Given the description of an element on the screen output the (x, y) to click on. 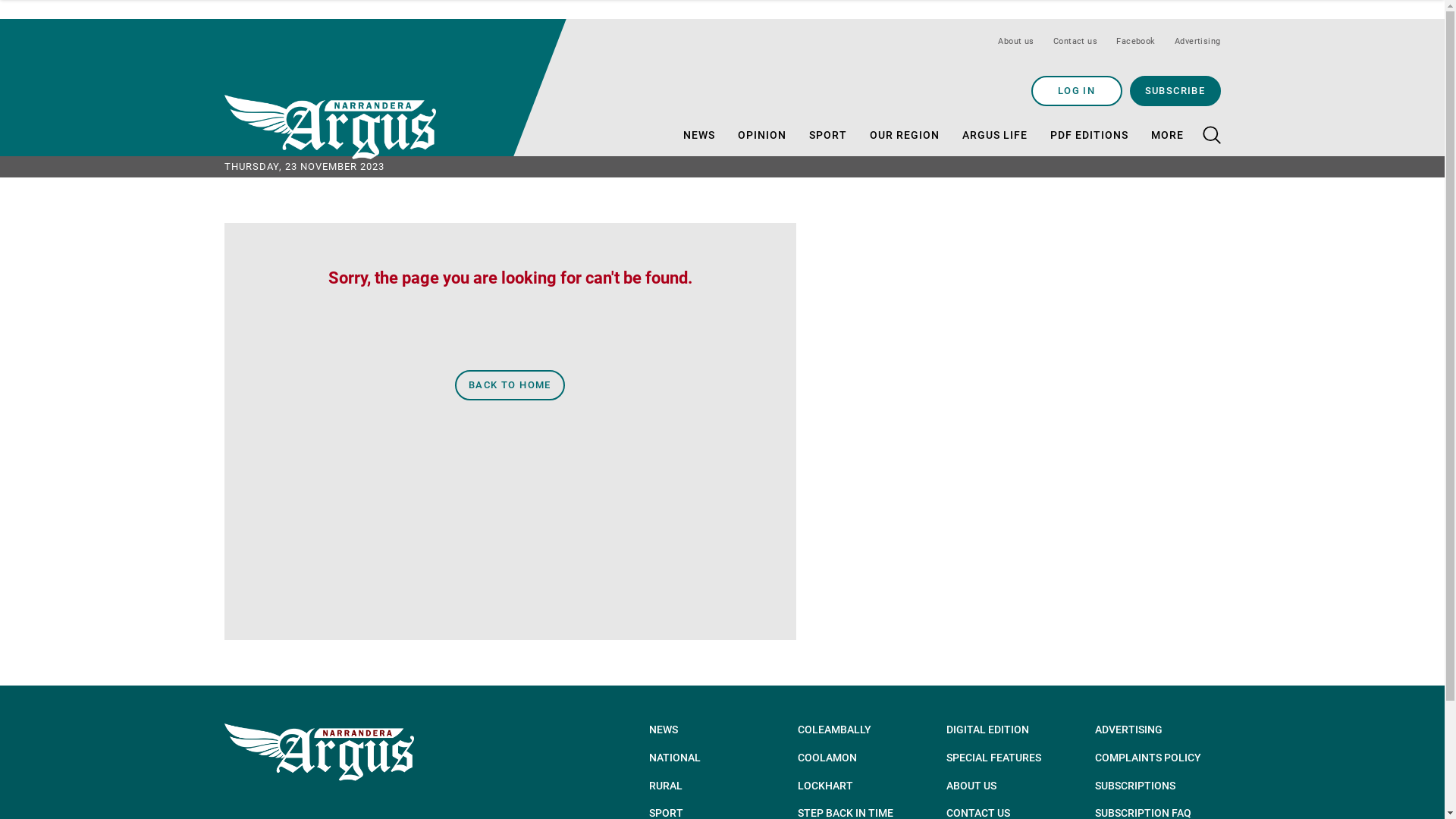
LOCKHART Element type: text (860, 785)
LOG IN Element type: text (1076, 90)
SPECIAL FEATURES Element type: text (1009, 757)
SUBSCRIBE Element type: text (1174, 90)
COMPLAINTS POLICY Element type: text (1157, 757)
OPINION Element type: text (761, 134)
ABOUT US Element type: text (1009, 785)
COOLAMON Element type: text (860, 757)
Advertising Element type: text (1193, 40)
NEWS Element type: text (698, 134)
OUR REGION Element type: text (903, 134)
RURAL Element type: text (712, 785)
About us Element type: text (1016, 40)
SEARCH Element type: text (1174, 150)
Facebook Element type: text (1136, 40)
Contact us Element type: text (1075, 40)
NATIONAL Element type: text (712, 757)
PDF EDITIONS Element type: text (1088, 134)
ARGUS LIFE Element type: text (993, 134)
BACK TO HOME Element type: text (509, 385)
ADVERTISING Element type: text (1157, 729)
DIGITAL EDITION Element type: text (1009, 729)
COLEAMBALLY Element type: text (860, 729)
MORE Element type: text (1167, 134)
SUBSCRIPTIONS Element type: text (1157, 785)
SPORT Element type: text (827, 134)
NEWS Element type: text (712, 729)
